Given the description of an element on the screen output the (x, y) to click on. 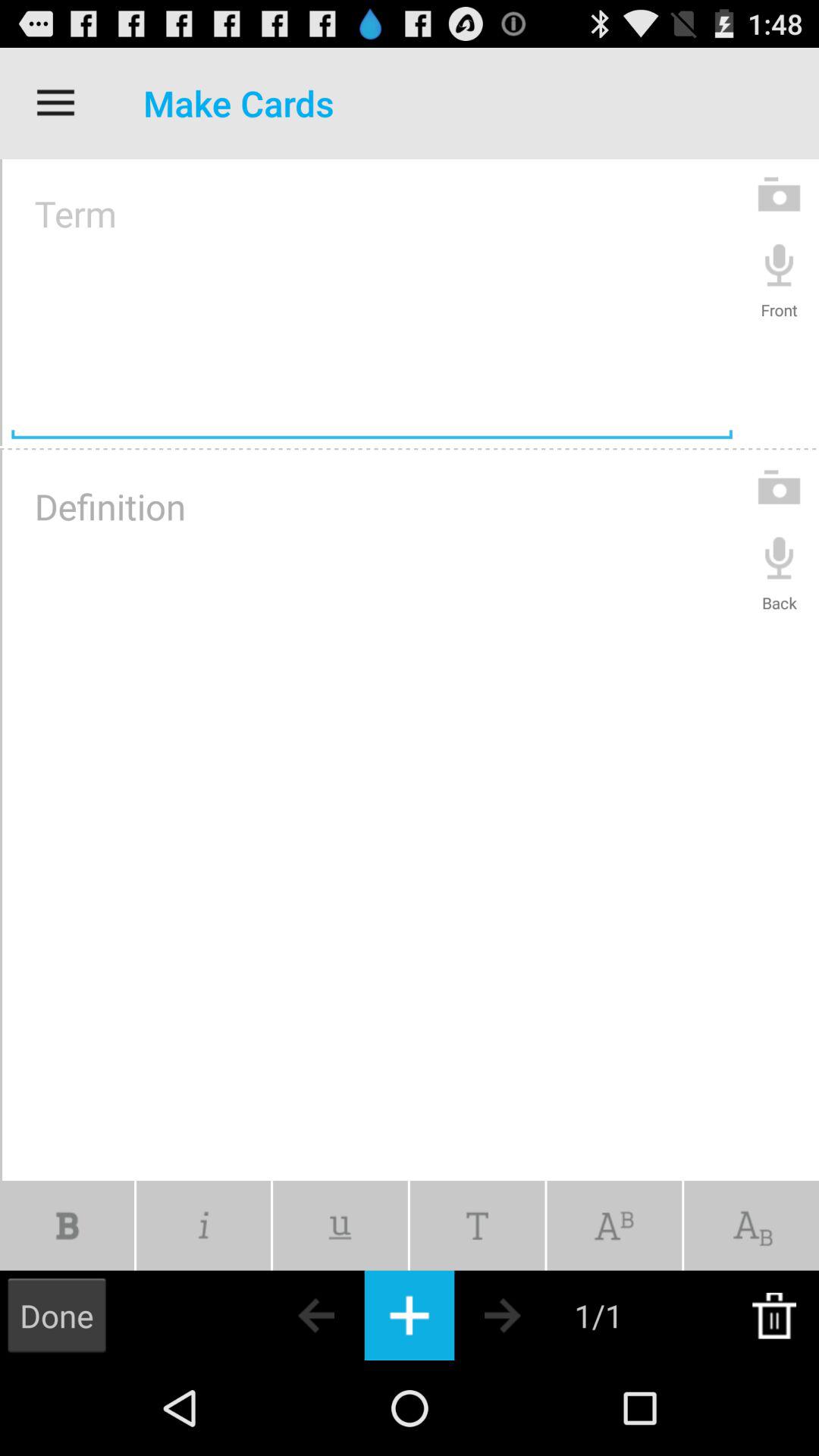
taggle autoplay option (340, 1225)
